Given the description of an element on the screen output the (x, y) to click on. 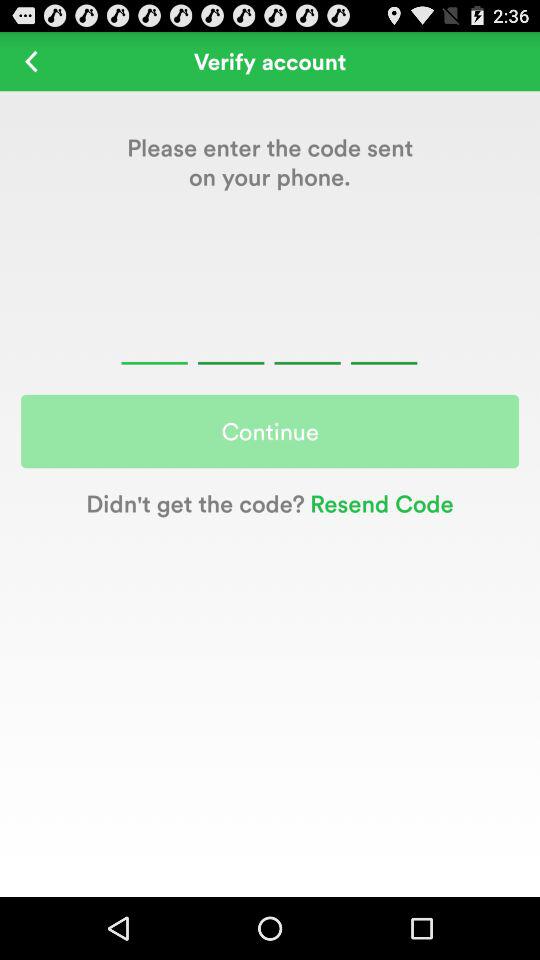
turn on item below the please enter the item (269, 339)
